Given the description of an element on the screen output the (x, y) to click on. 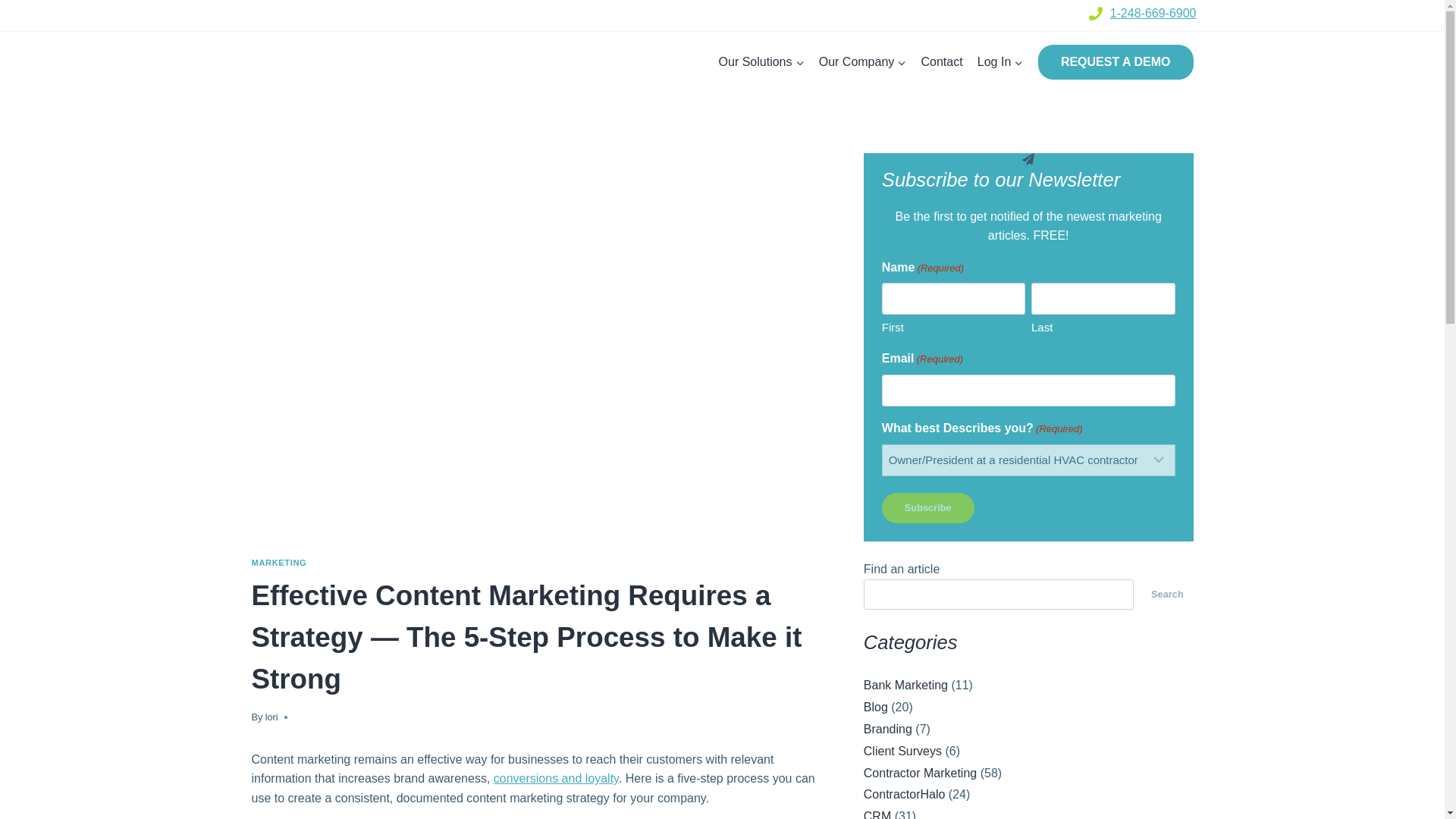
1-248-669-6900 (1152, 12)
Search (1166, 594)
Subscribe (928, 508)
Our Solutions (760, 62)
Our Company (862, 62)
MARKETING (279, 562)
Contact (941, 62)
conversions and loyalty (555, 778)
REQUEST A DEMO (1115, 62)
lori (271, 716)
